Given the description of an element on the screen output the (x, y) to click on. 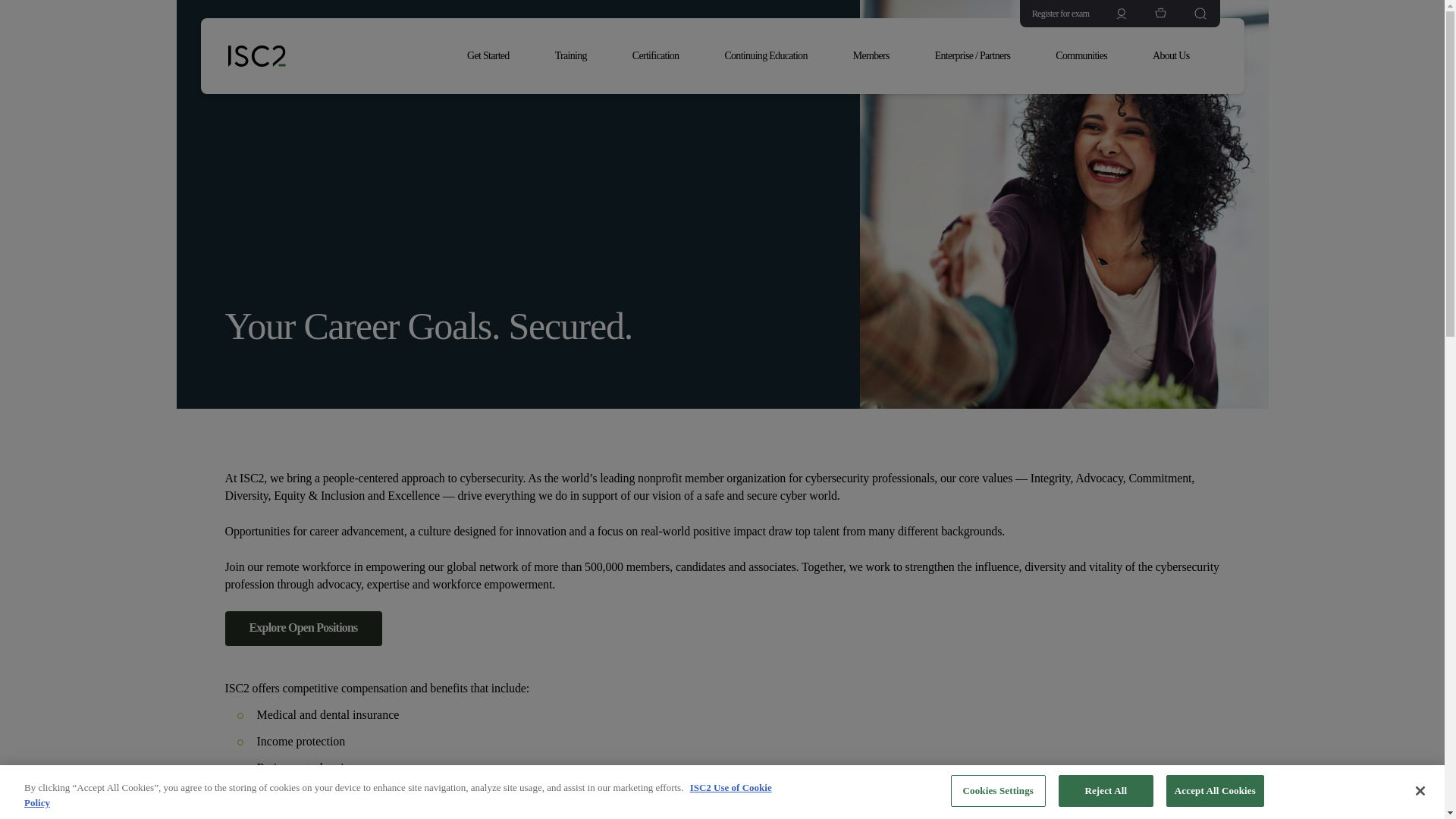
Members (879, 55)
ISC2 Use of Cookie Policy (397, 795)
Cookies Settings (997, 790)
Training (578, 55)
Continuing Education (772, 55)
Register for exam (1054, 13)
Explore Open Positions (302, 628)
Get Started (495, 55)
Register for exam (1054, 13)
Certification (663, 55)
